Given the description of an element on the screen output the (x, y) to click on. 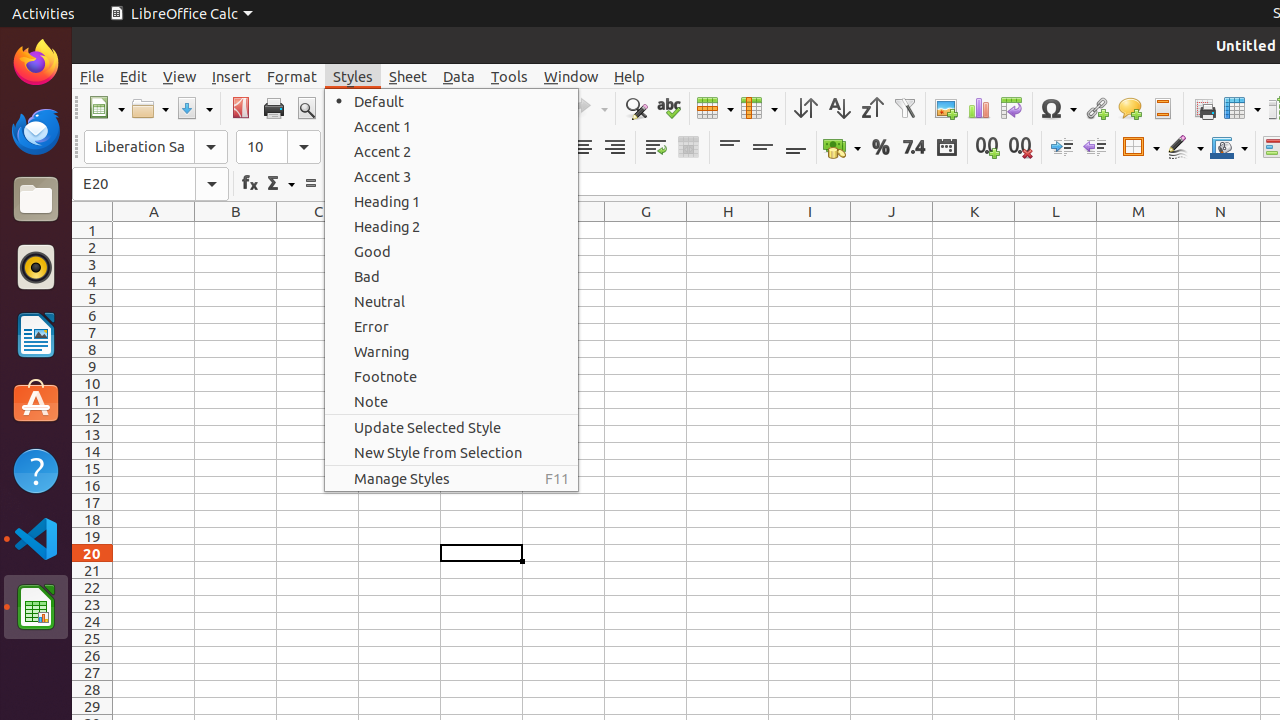
Tools Element type: menu (509, 76)
K1 Element type: table-cell (974, 230)
Symbol Element type: push-button (1058, 108)
Format Element type: menu (292, 76)
New Style from Selection Element type: menu-item (451, 452)
